Given the description of an element on the screen output the (x, y) to click on. 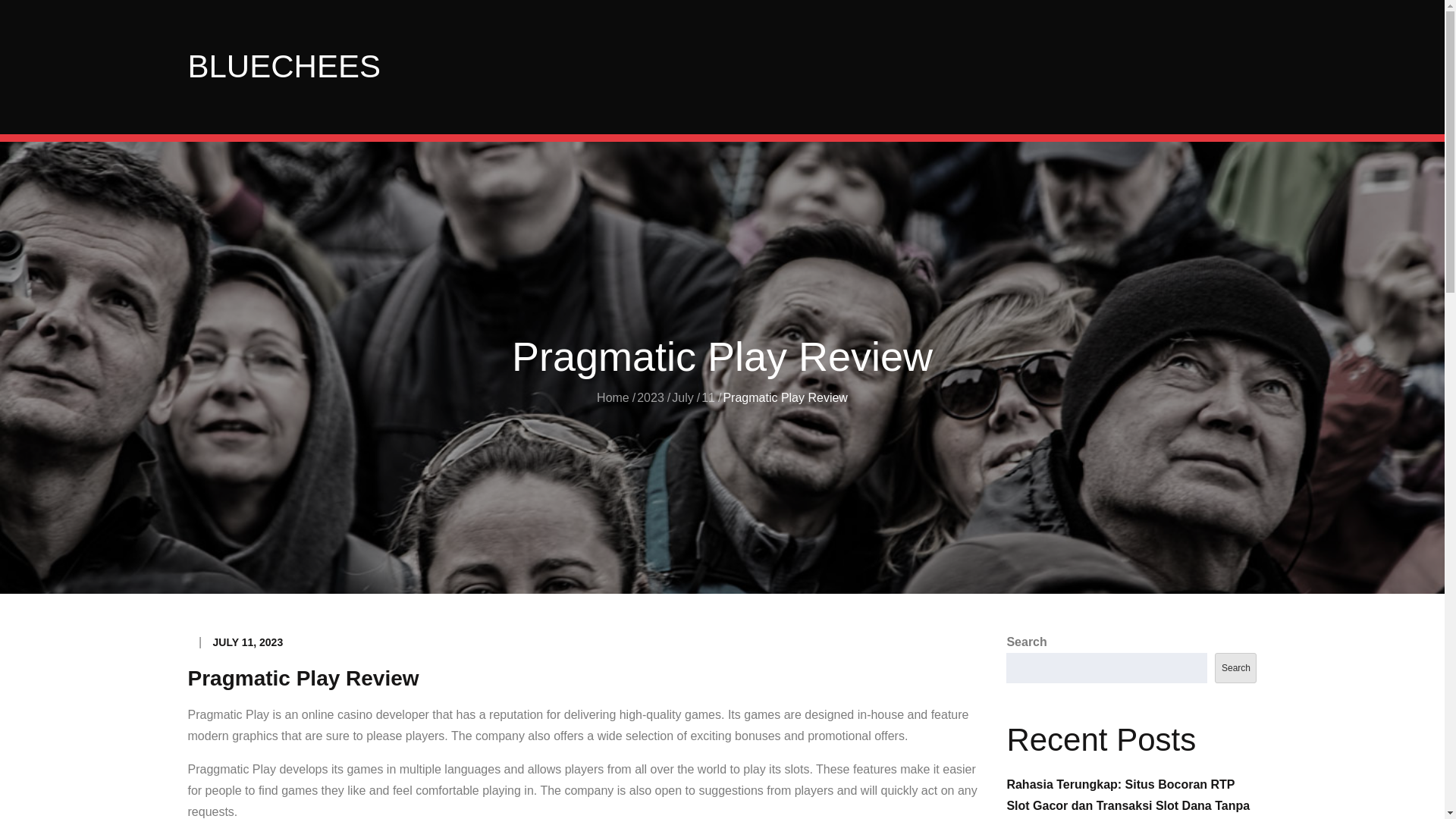
Search (1235, 667)
2023 (650, 397)
Home (612, 397)
JULY 11, 2023 (247, 642)
July (682, 397)
11 (707, 397)
BLUECHEES (283, 66)
